Given the description of an element on the screen output the (x, y) to click on. 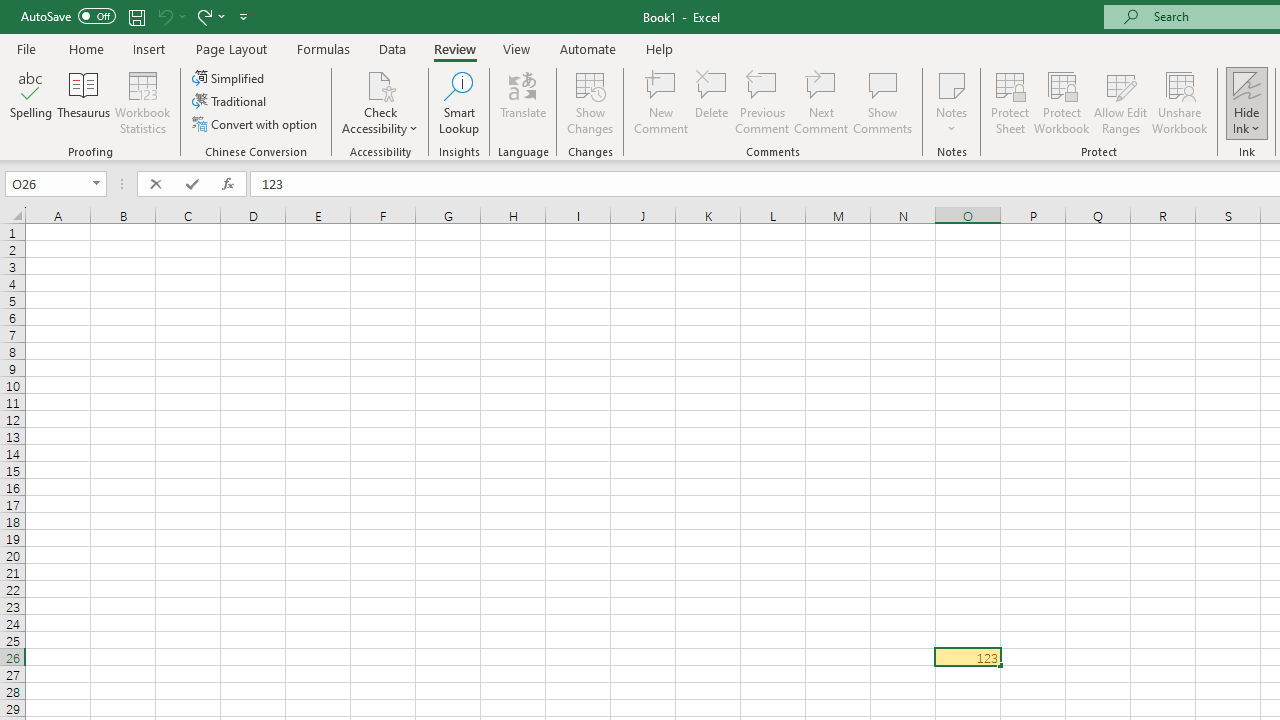
Traditional (230, 101)
Page Layout (230, 48)
Check Accessibility (380, 102)
